Given the description of an element on the screen output the (x, y) to click on. 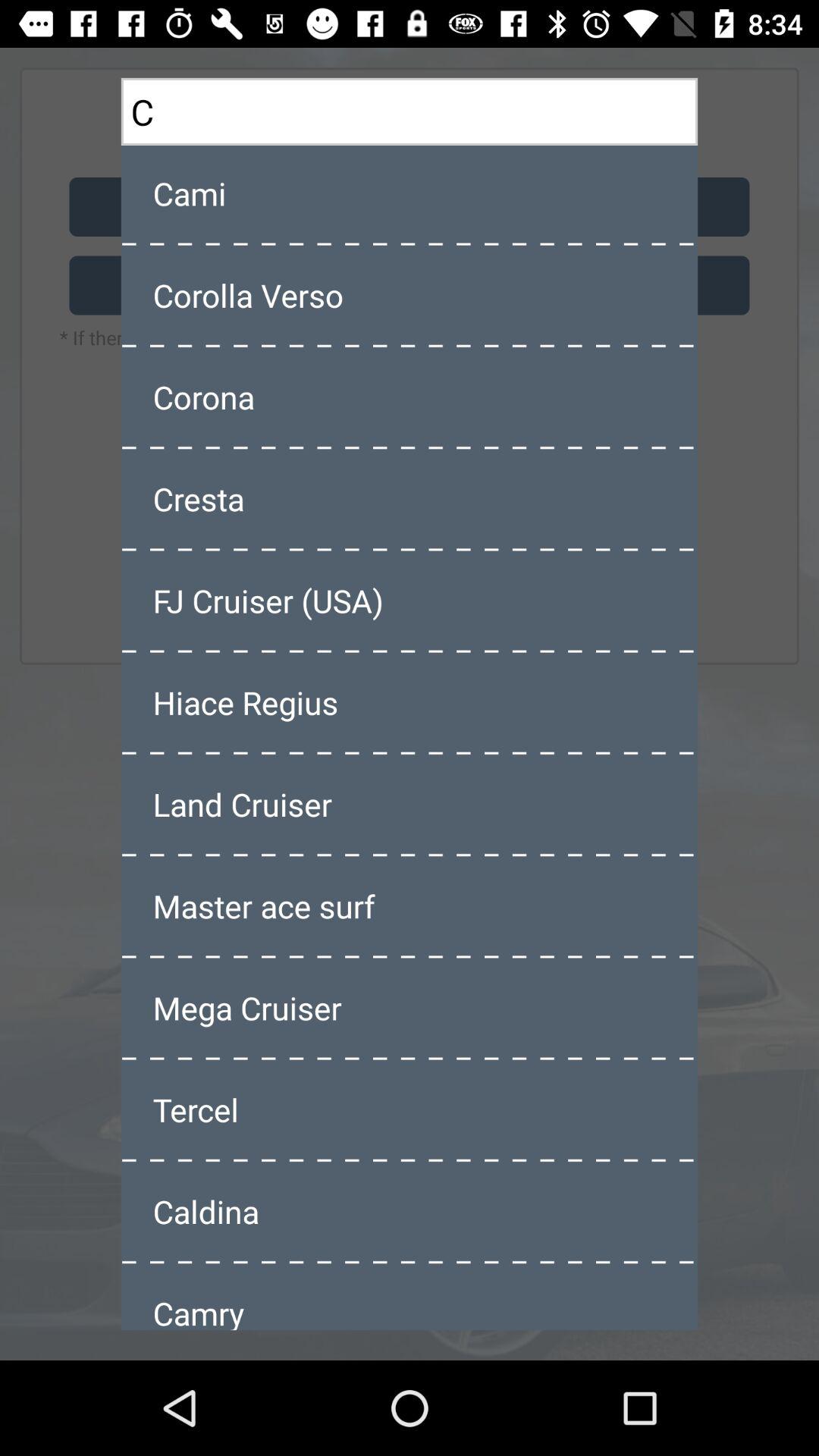
click item below the c (409, 193)
